Given the description of an element on the screen output the (x, y) to click on. 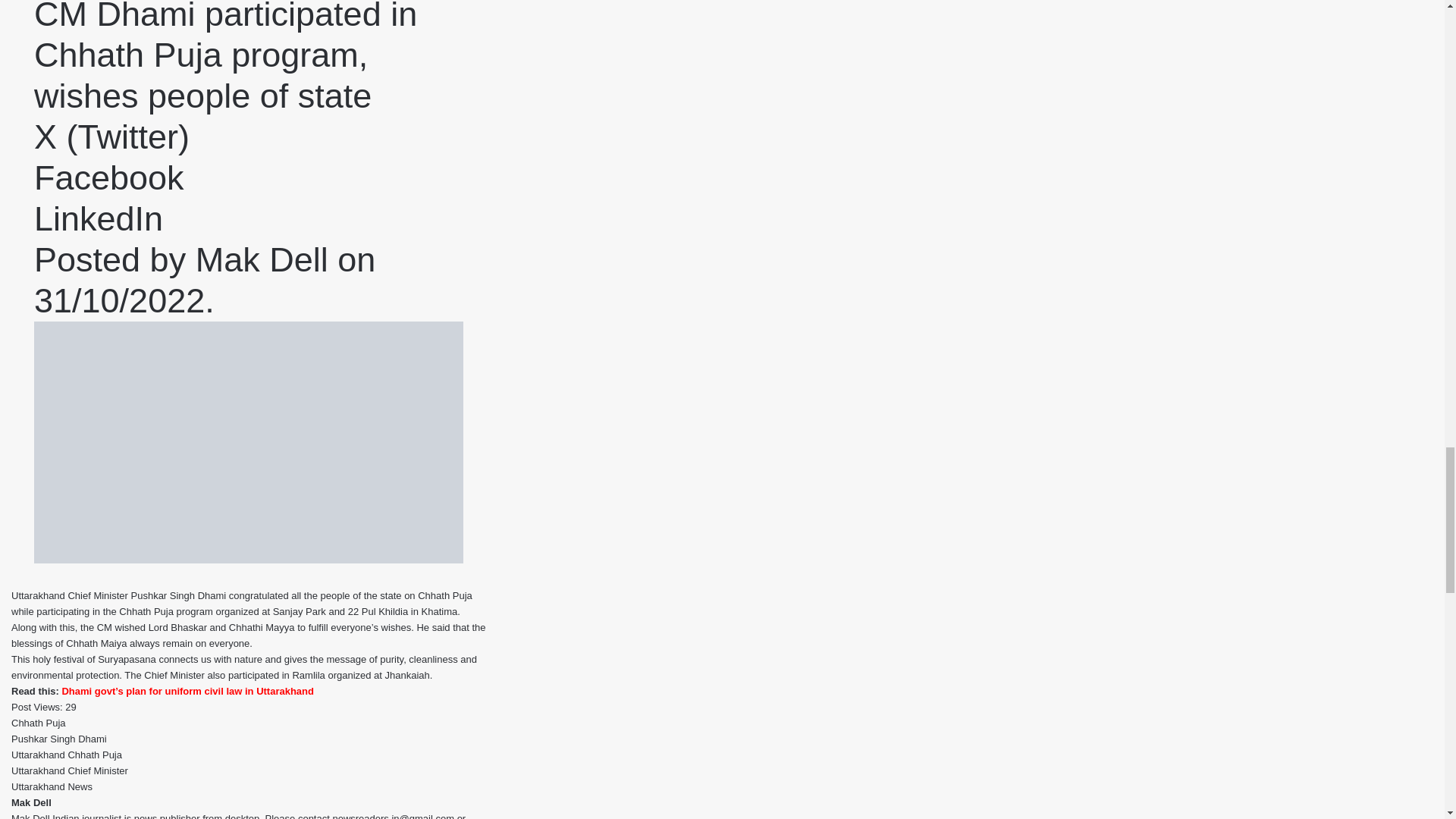
Share on LinkedIn (98, 218)
Share on facebook (108, 177)
